Given the description of an element on the screen output the (x, y) to click on. 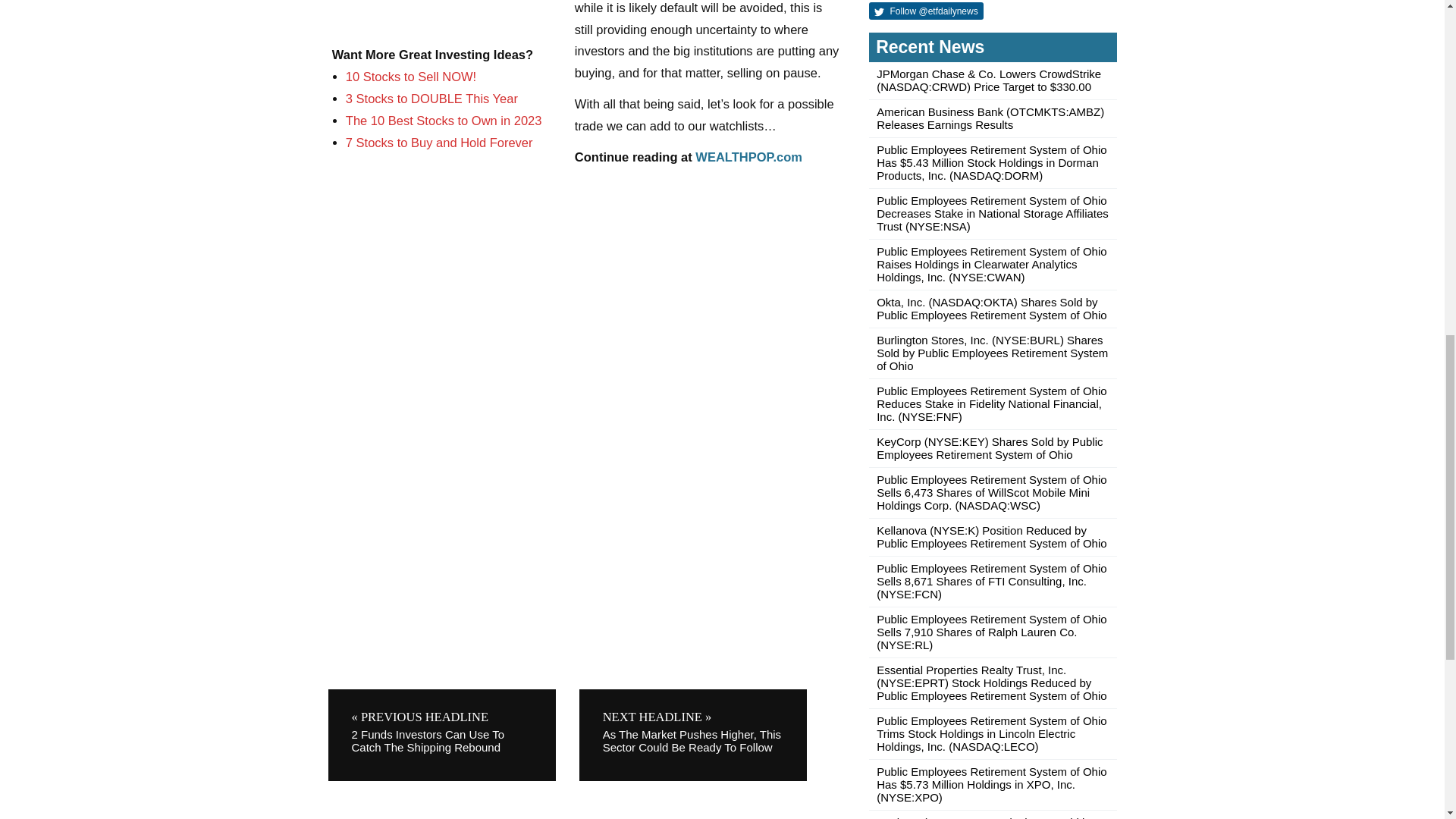
WEALTHPOP.com (748, 156)
3 Stocks to DOUBLE This Year (432, 98)
7 Stocks to Buy and Hold Forever (439, 142)
The 10 Best Stocks to Own in 2023 (443, 120)
3rd party ad content (445, 15)
10 Stocks to Sell NOW! (411, 76)
